Given the description of an element on the screen output the (x, y) to click on. 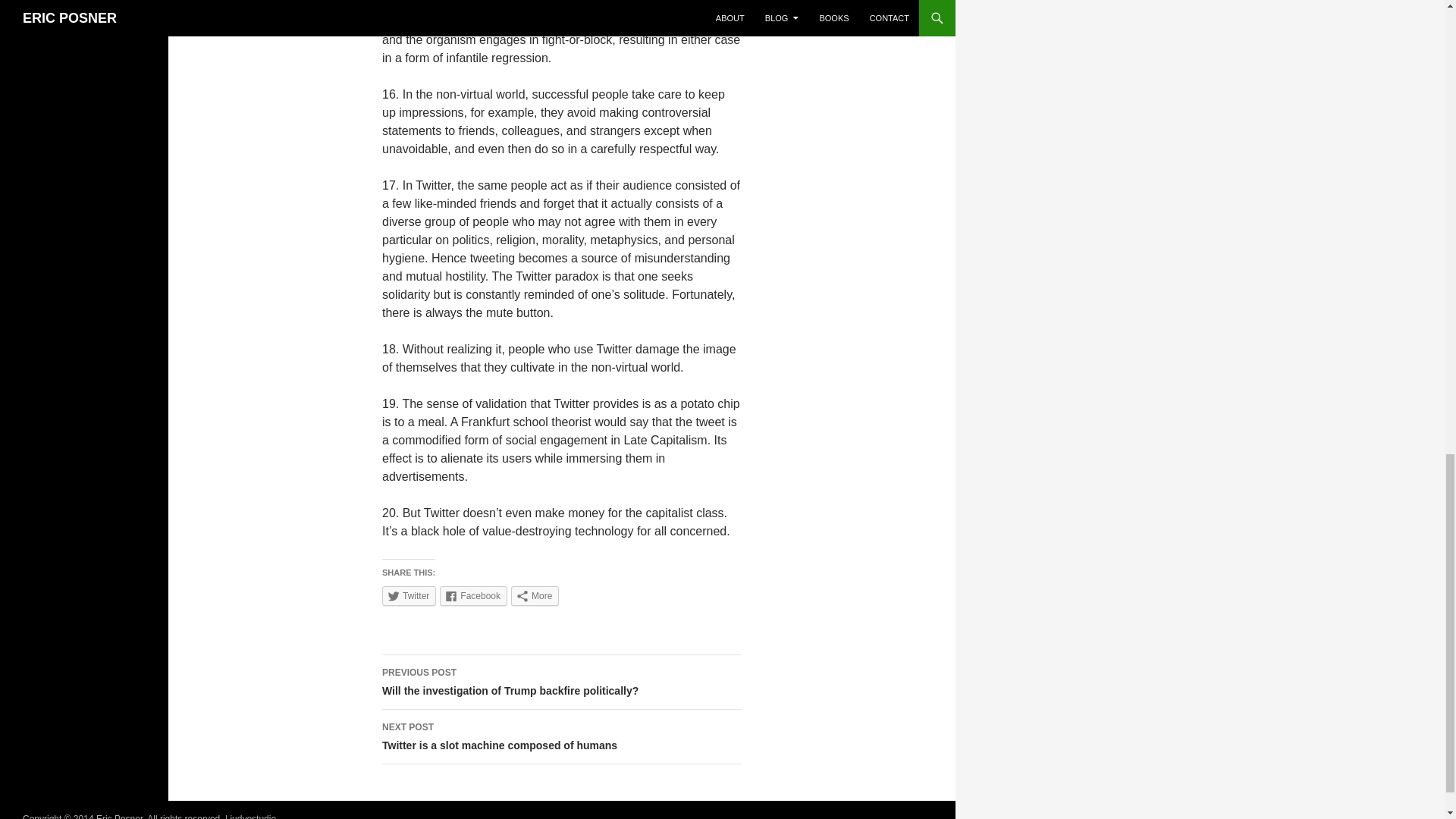
More (535, 596)
Twitter (408, 596)
Click to share on Facebook (472, 596)
Click to share on Twitter (408, 596)
Facebook (561, 737)
